Given the description of an element on the screen output the (x, y) to click on. 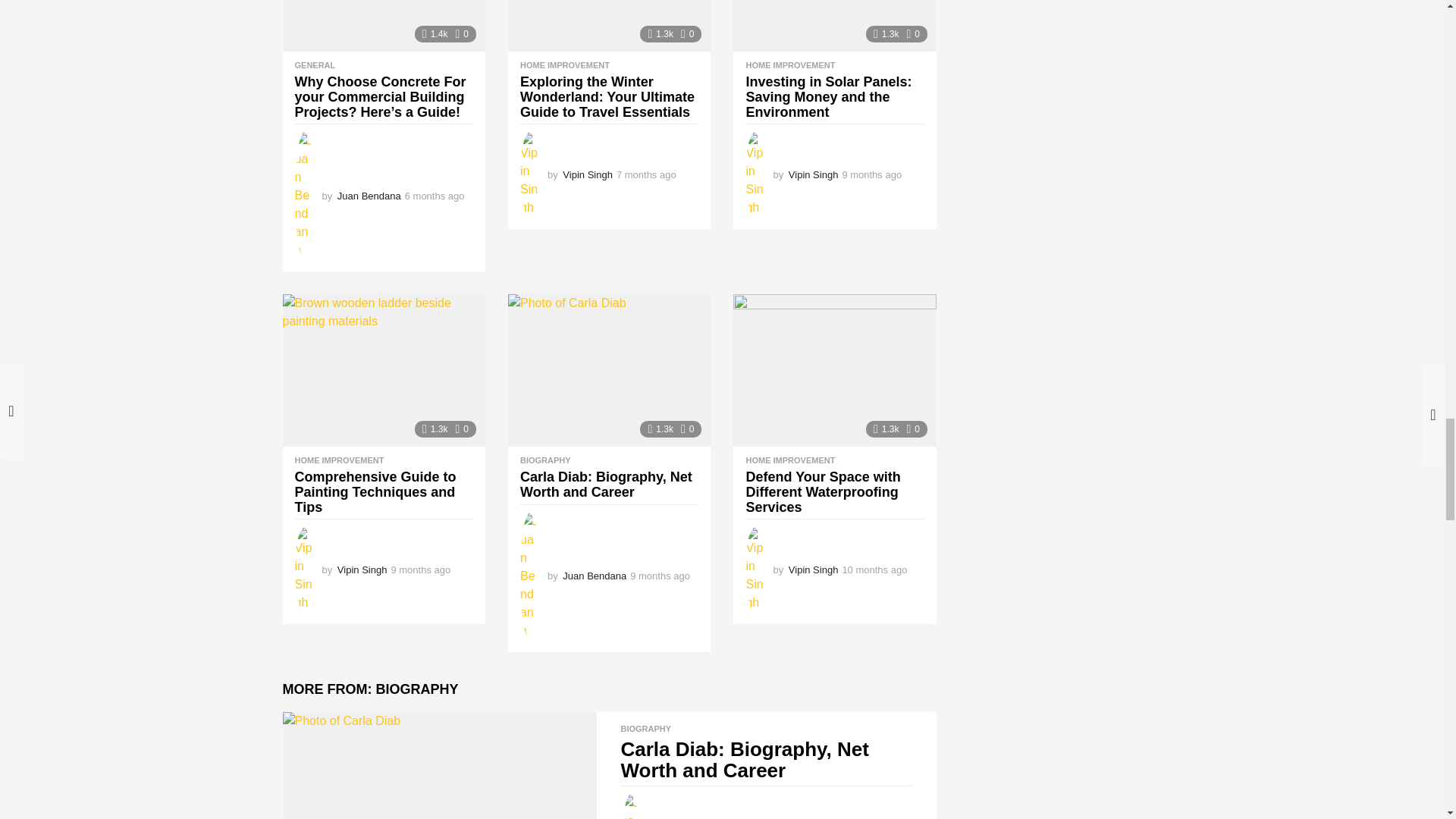
Defend Your Space with Different Waterproofing Services (834, 370)
Investing in Solar Panels: Saving Money and the Environment (834, 25)
Carla Diab: Biography, Net Worth and Career (438, 765)
Carla Diab: Biography, Net Worth and Career (609, 370)
Comprehensive Guide to Painting Techniques and Tips (383, 370)
